Given the description of an element on the screen output the (x, y) to click on. 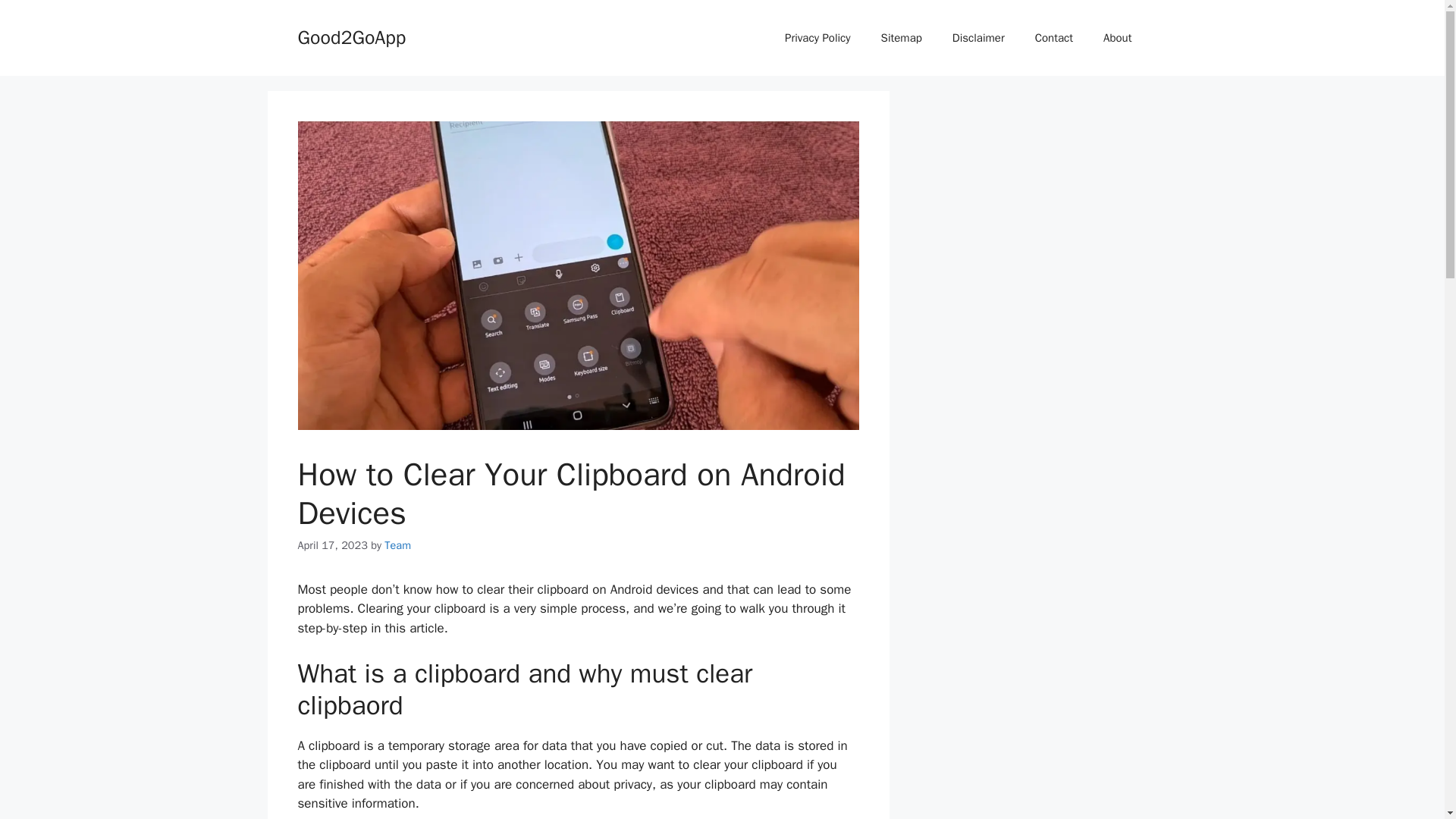
Sitemap (901, 37)
Privacy Policy (818, 37)
Team (397, 545)
About (1117, 37)
Contact (1053, 37)
Good2GoApp (351, 37)
View all posts by Team (397, 545)
Disclaimer (978, 37)
